Given the description of an element on the screen output the (x, y) to click on. 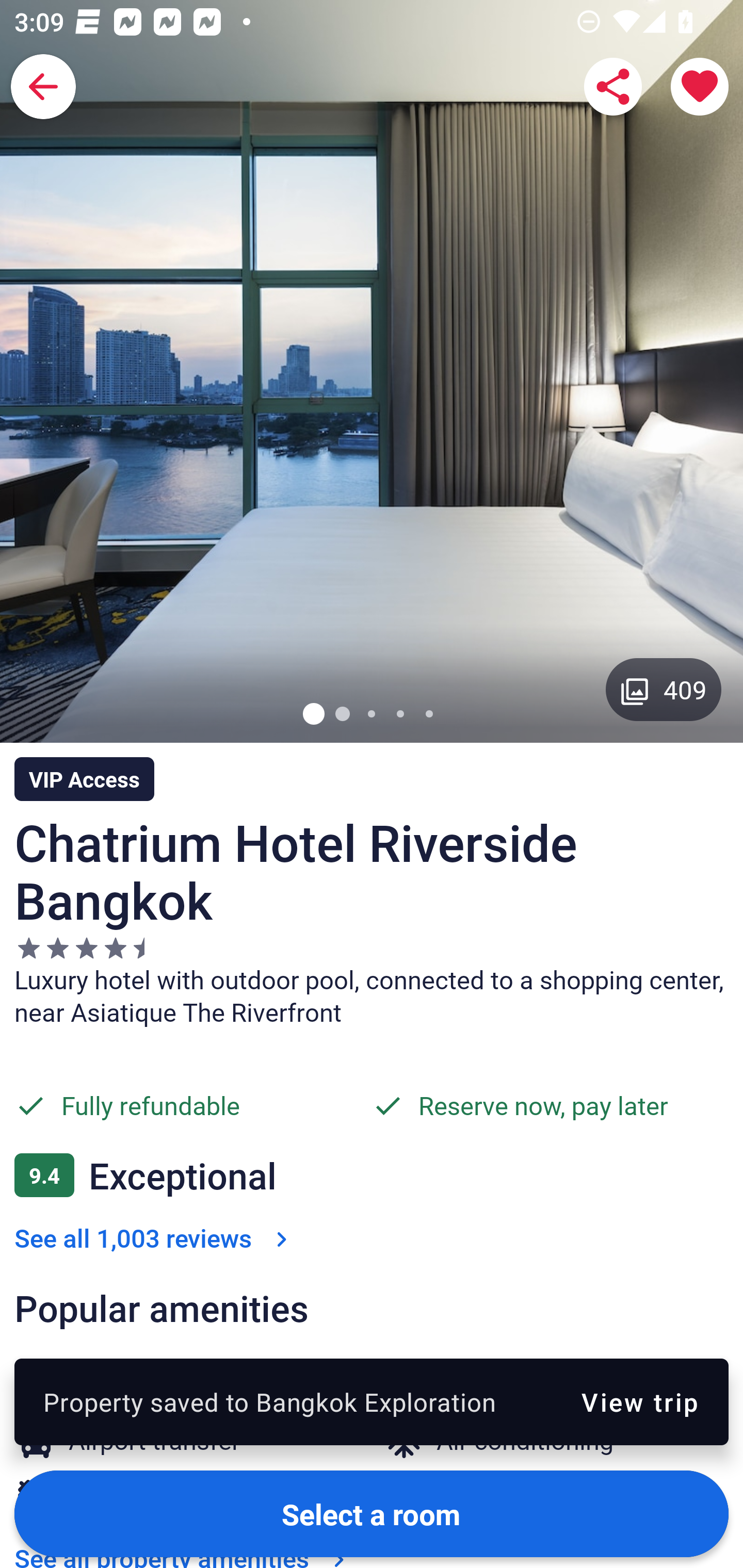
Back (43, 86)
Share Chatrium Hotel Riverside Bangkok (612, 87)
Gallery button with 409 images (663, 689)
See all 1,003 reviews See all 1,003 reviews Link (154, 1175)
View trip (640, 1401)
Select a room Button Select a room (371, 1513)
